Given the description of an element on the screen output the (x, y) to click on. 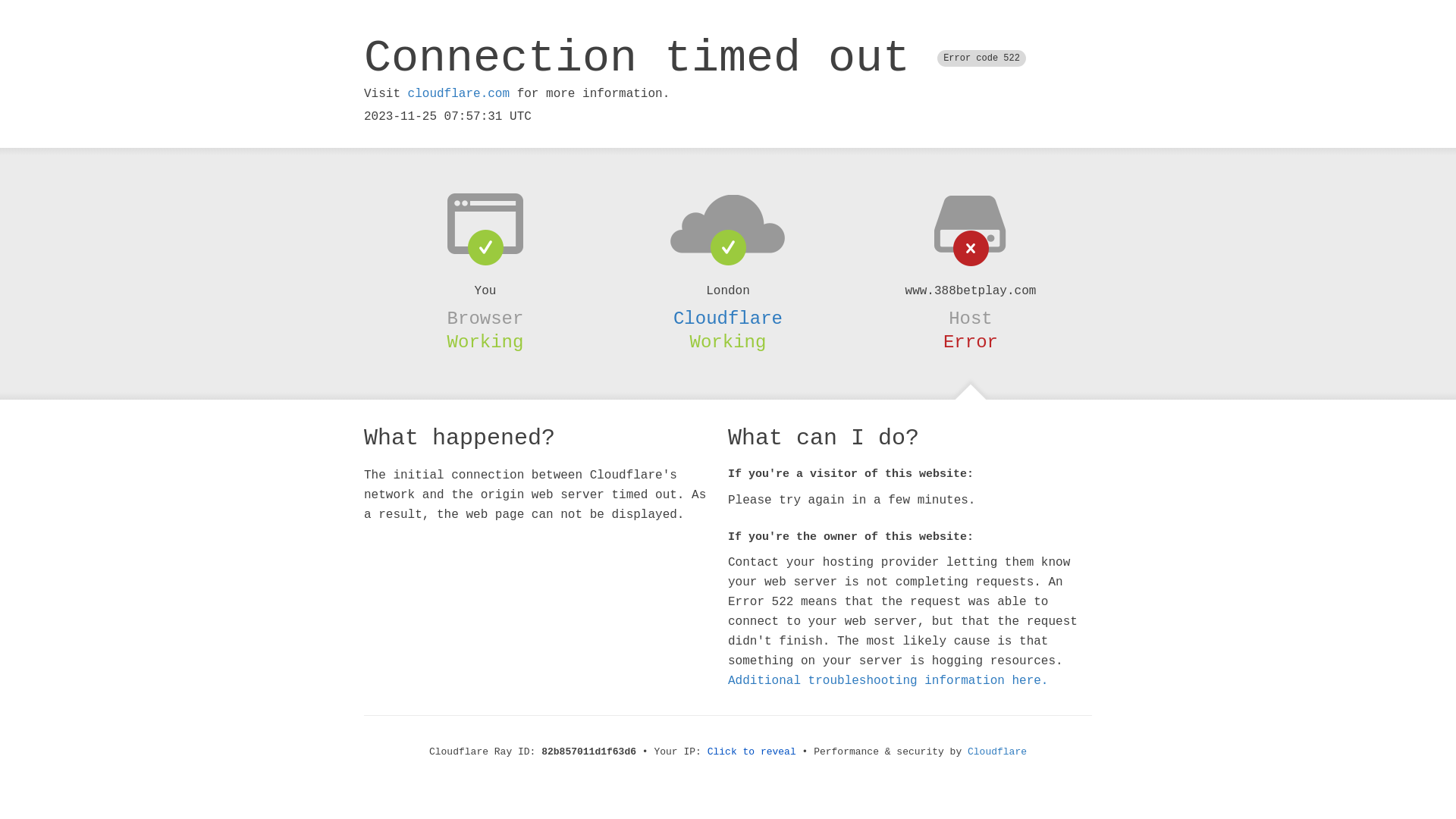
Additional troubleshooting information here. Element type: text (888, 680)
Cloudflare Element type: text (996, 751)
Click to reveal Element type: text (751, 751)
cloudflare.com Element type: text (458, 93)
Cloudflare Element type: text (727, 318)
